Given the description of an element on the screen output the (x, y) to click on. 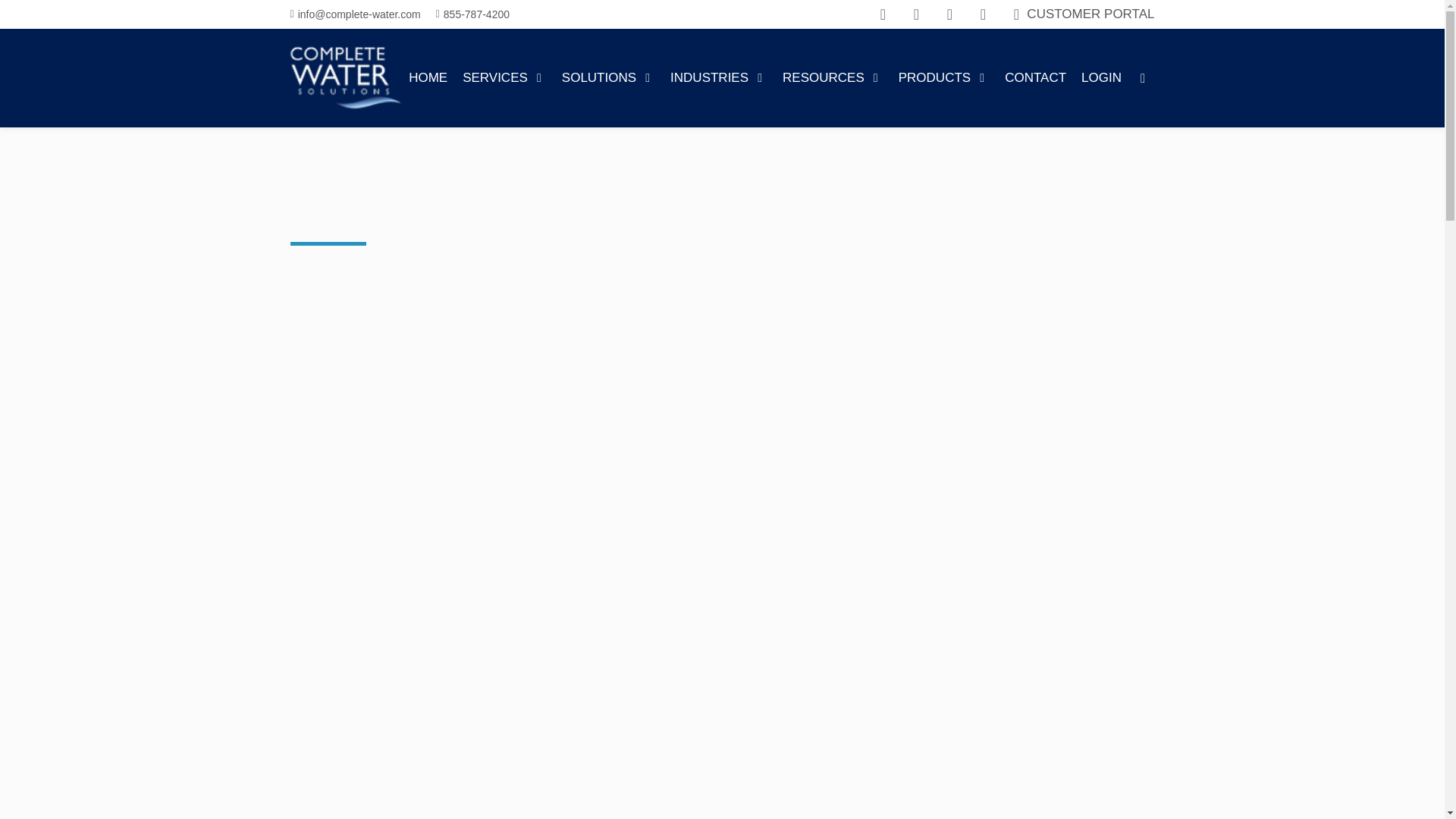
SOLUTIONS (608, 77)
HOME (427, 77)
CUSTOMER PORTAL (1081, 14)
SERVICES (505, 77)
855-787-4200 (476, 14)
